Given the description of an element on the screen output the (x, y) to click on. 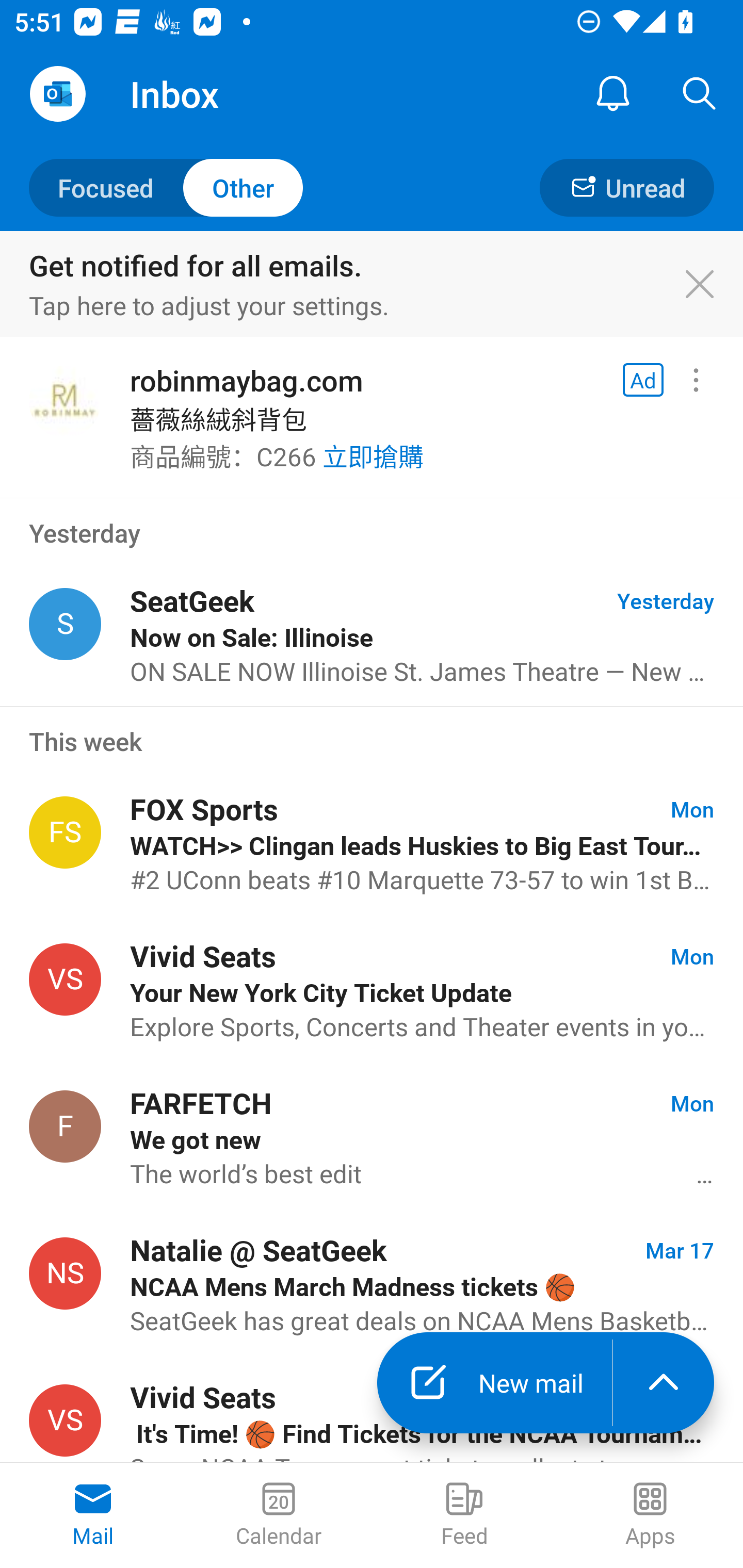
Notification Center (612, 93)
Search, ,  (699, 93)
Open Navigation Drawer (57, 94)
Toggle to Focused Inbox (165, 187)
Close Notification (710, 284)
Ad options menu button (695, 380)
Ad (642, 379)
SeatGeek, events@seatgeek.com (64, 624)
FOX Sports, email@inbox.foxsports.com (64, 832)
Vivid Seats, tickets@live.vividseats.com (64, 979)
FARFETCH, farfetch@email.farfetch.com (64, 1125)
Natalie @ SeatGeek, events@seatgeek.com (64, 1273)
New mail (494, 1382)
launch the extended action menu (663, 1382)
Vivid Seats, tickets@live.vividseats.com (64, 1420)
Calendar (278, 1515)
Feed (464, 1515)
Apps (650, 1515)
